Given the description of an element on the screen output the (x, y) to click on. 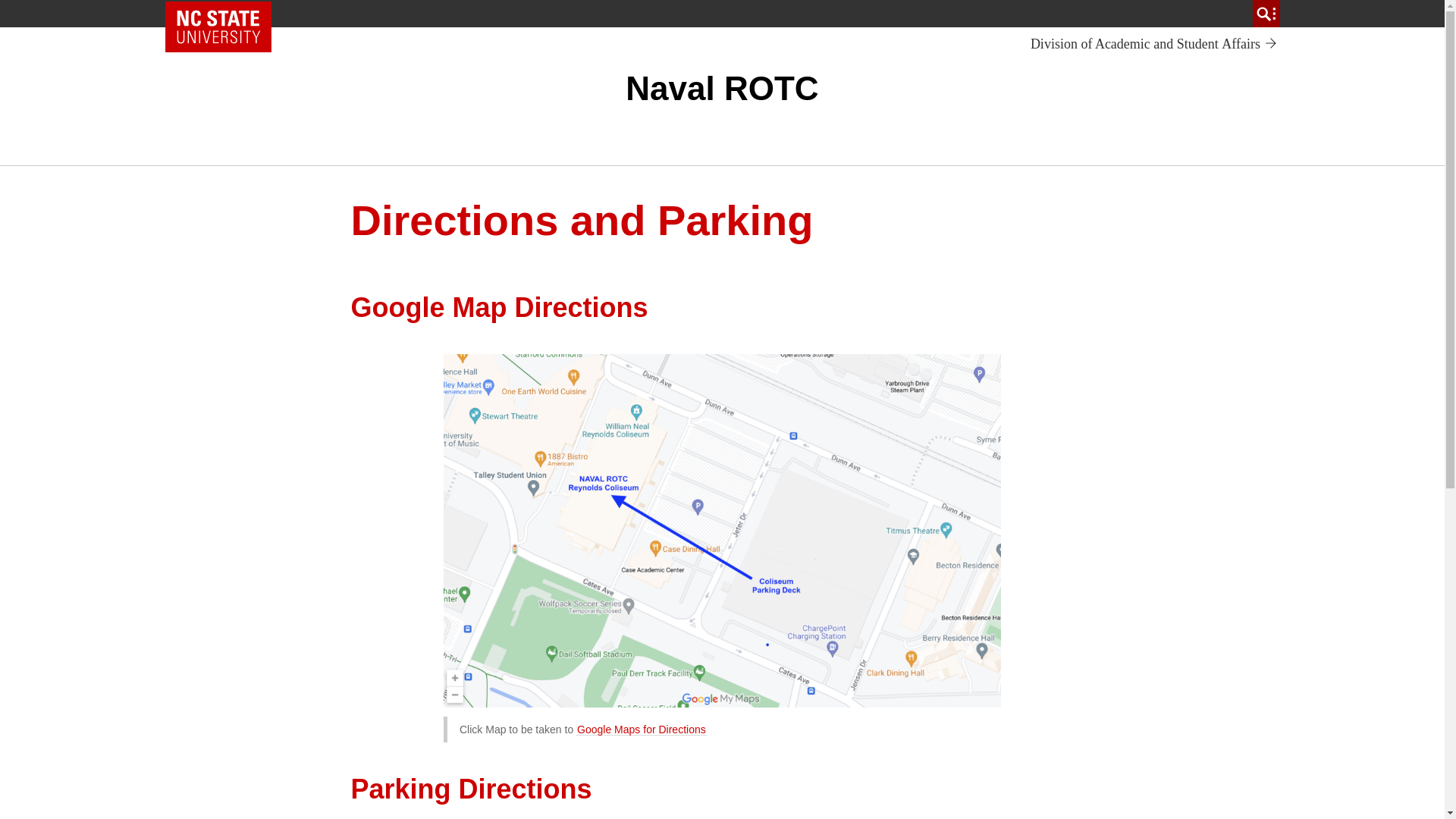
Naval ROTC (722, 88)
NC State Home (1154, 44)
Skip to main content (217, 26)
